Given the description of an element on the screen output the (x, y) to click on. 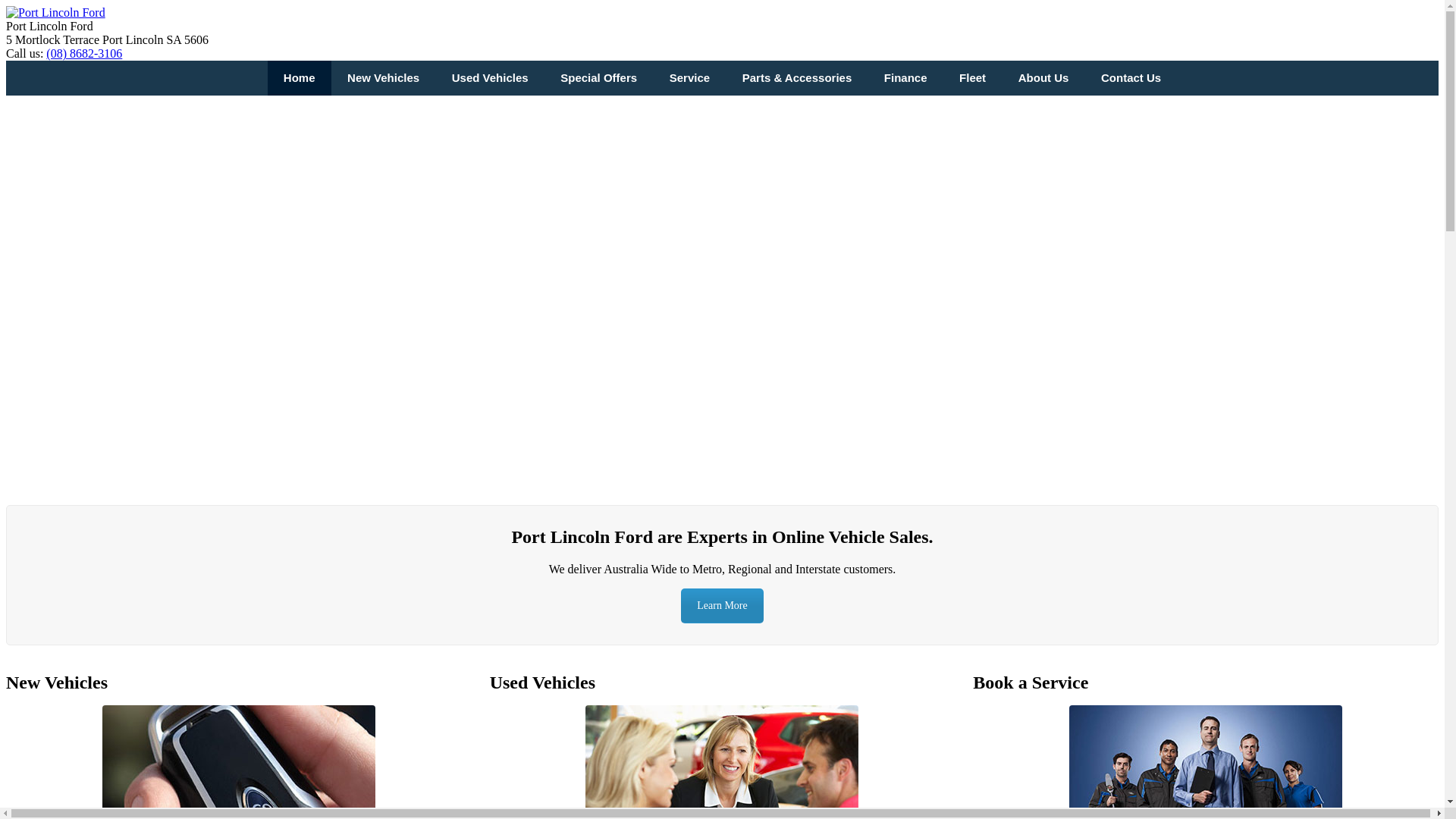
(08) 8682-3106 Element type: text (84, 53)
Learn More Element type: text (721, 605)
Fleet Element type: text (972, 77)
Finance Element type: text (905, 77)
Skip to content Element type: text (5, 5)
Home Element type: text (298, 77)
Special Offers Element type: text (598, 77)
Used Vehicles Element type: text (489, 77)
Contact Us Element type: text (1131, 77)
About Us Element type: text (1042, 77)
New Vehicles Element type: text (383, 77)
Parts & Accessories Element type: text (796, 77)
Service Element type: text (688, 77)
